Given the description of an element on the screen output the (x, y) to click on. 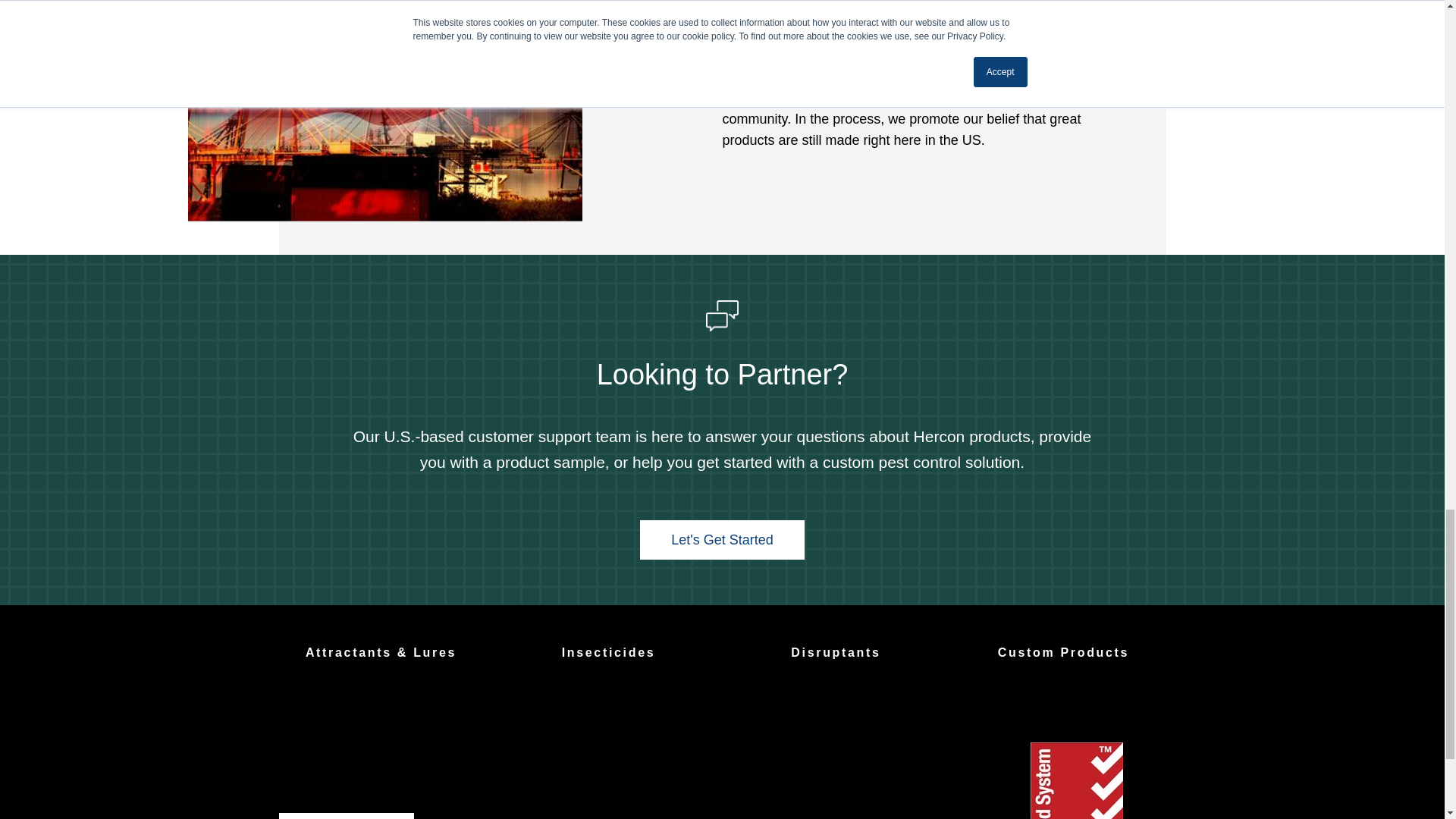
Let's Get Started (722, 539)
Custom Products (1063, 652)
Let's Get Started (722, 539)
Disruptants (836, 652)
Insecticides (608, 652)
